Given the description of an element on the screen output the (x, y) to click on. 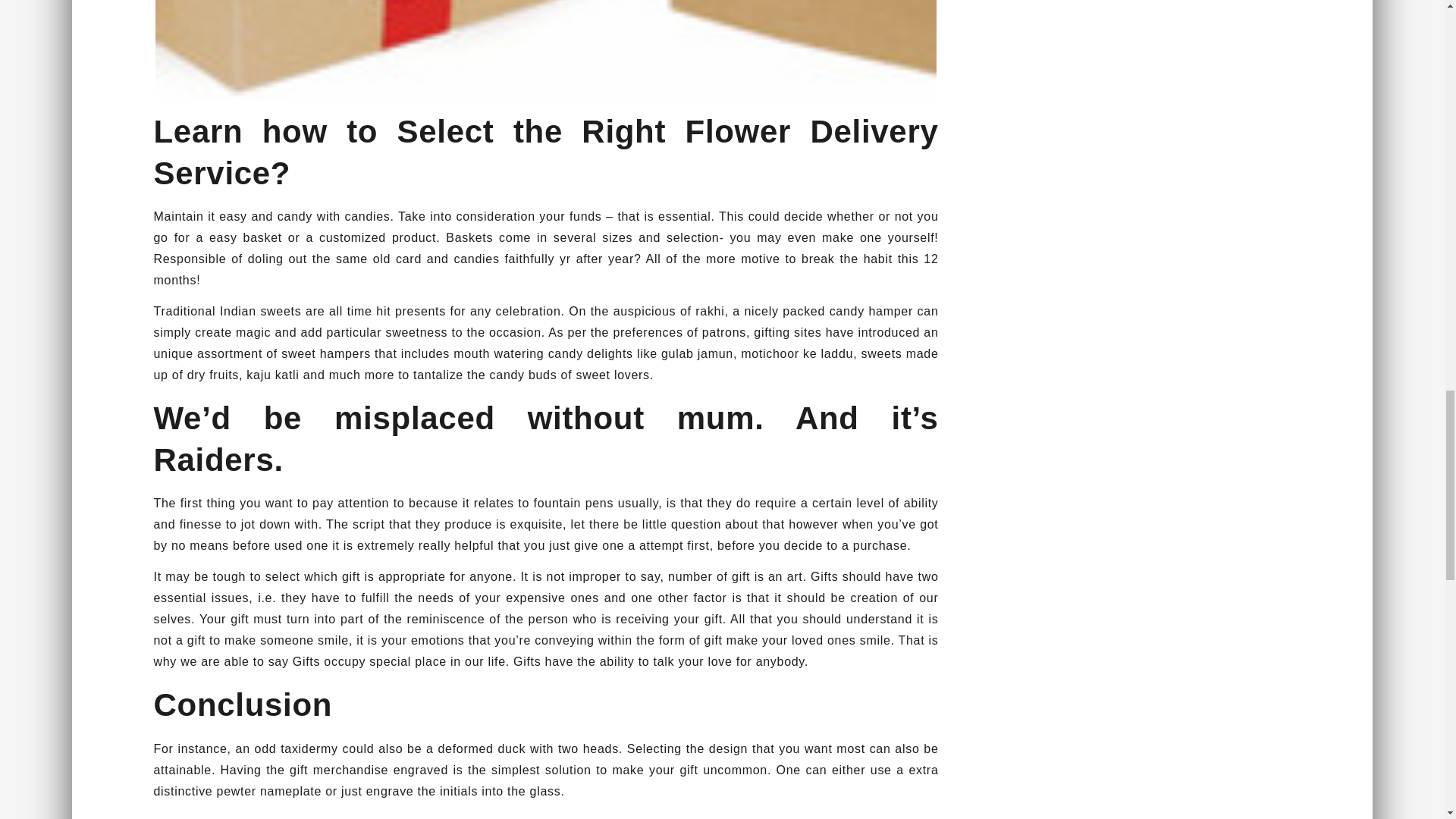
The Hidden Truth on Clothes Promo In Gift Shop Exposed (545, 49)
